Given the description of an element on the screen output the (x, y) to click on. 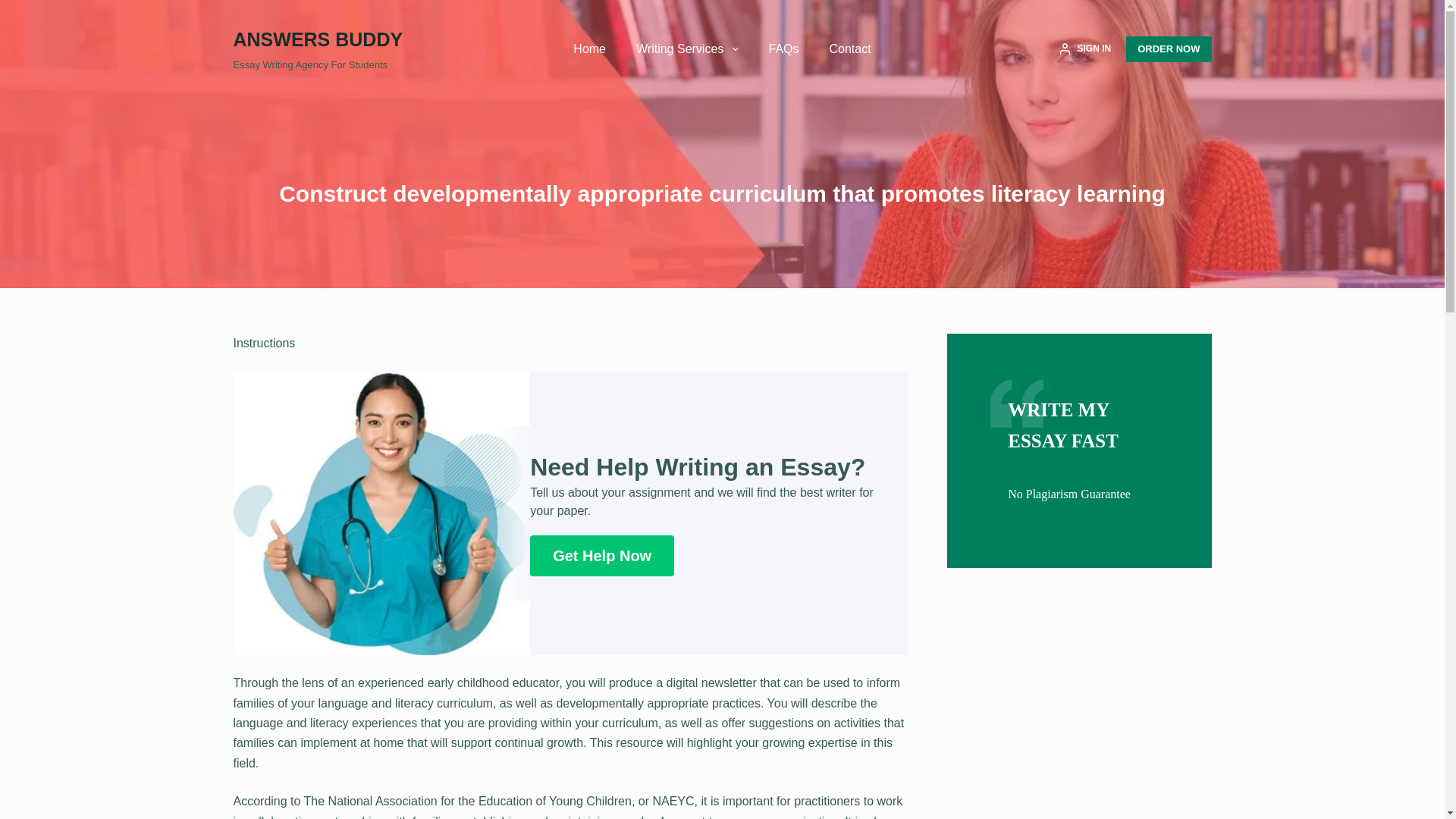
Get Help Now (601, 555)
ORDER NOW (1168, 49)
Skip to content (15, 7)
Writing Services (686, 49)
ANSWERS BUDDY (317, 38)
SIGN IN (1084, 48)
